Given the description of an element on the screen output the (x, y) to click on. 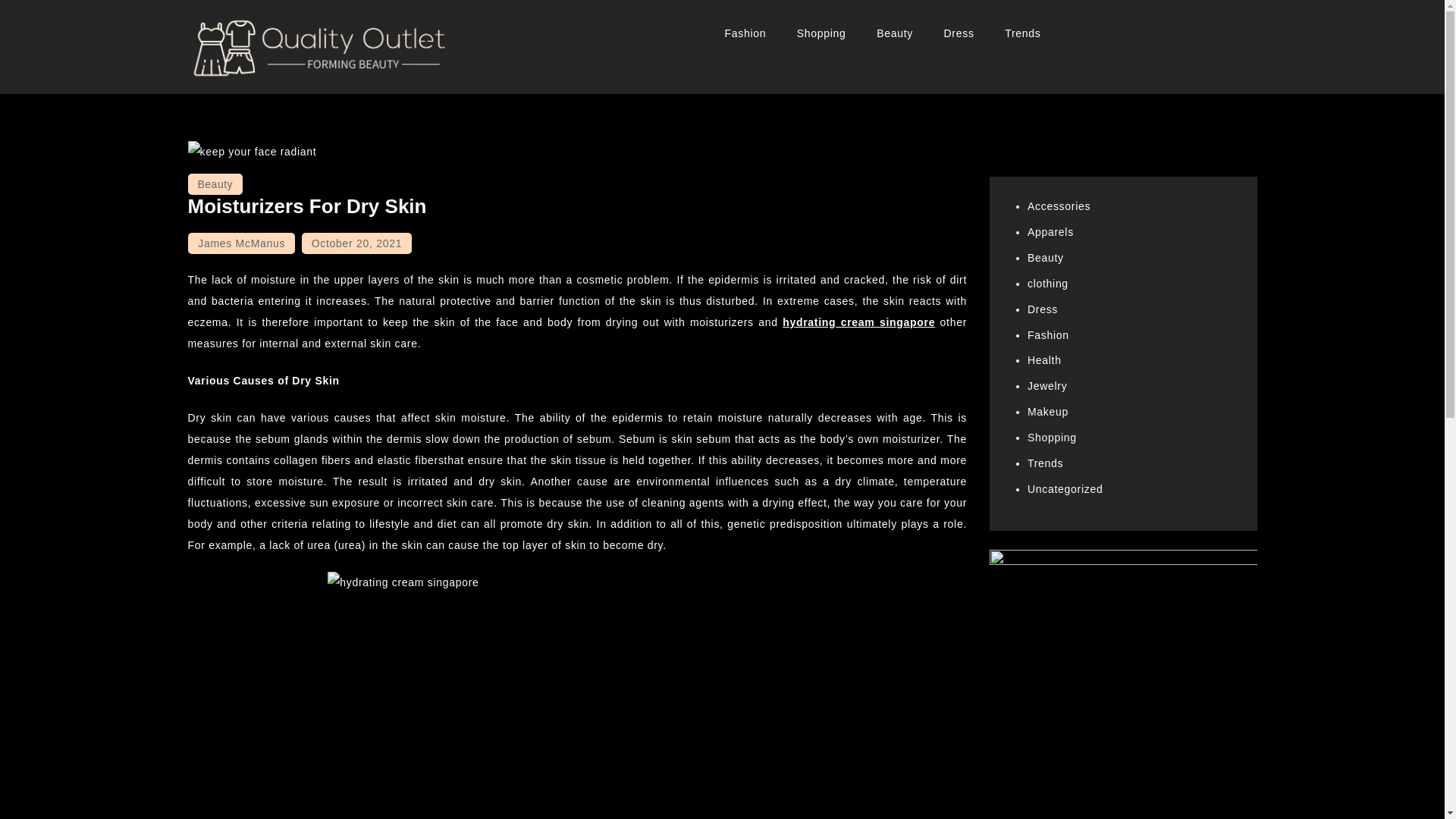
Shopping (1052, 437)
Uncategorized (1064, 489)
Beauty (1045, 257)
clothing (1047, 283)
Apparels (1050, 232)
Trends (1022, 33)
Fashion (745, 33)
James McManus (241, 242)
Makeup (1047, 411)
Fashion (1047, 335)
